Given the description of an element on the screen output the (x, y) to click on. 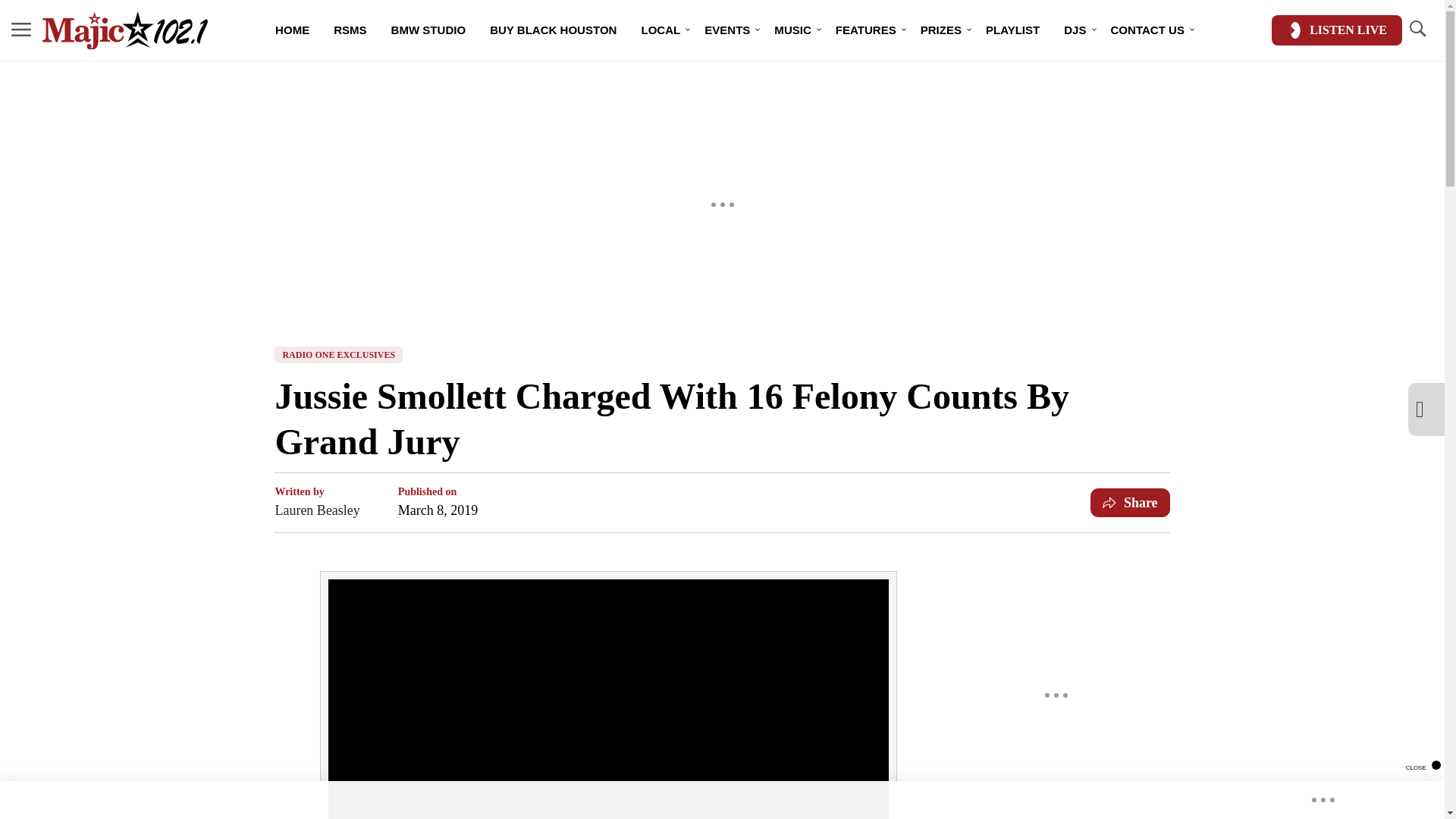
CONTACT US (1147, 30)
TOGGLE SEARCH (1417, 28)
HOME (292, 30)
MENU (20, 29)
EVENTS (727, 30)
LOCAL (660, 30)
BUY BLACK HOUSTON (552, 30)
MUSIC (791, 30)
PLAYLIST (1012, 30)
MENU (20, 30)
RSMS (349, 30)
PRIZES (941, 30)
FEATURES (866, 30)
BMW STUDIO (428, 30)
